Given the description of an element on the screen output the (x, y) to click on. 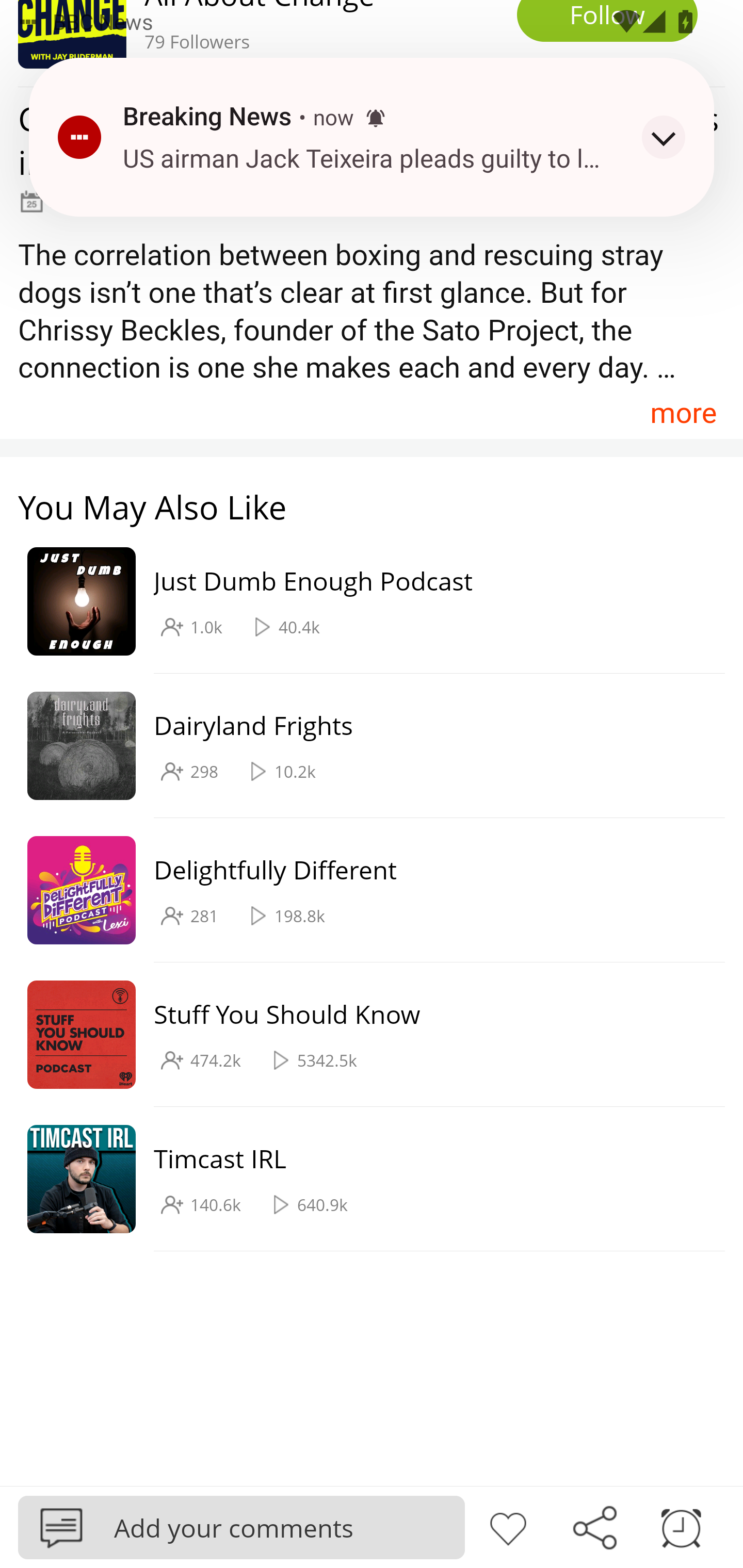
79 Followers (371, 43)
more (682, 412)
Just Dumb Enough Podcast 1.0k 40.4k (362, 601)
Dairyland Frights 298 10.2k (362, 746)
Delightfully Different 281 198.8k (362, 890)
Stuff You Should Know 474.2k 5342.5k (362, 1034)
Timcast IRL 140.6k 640.9k (362, 1179)
Like (508, 1526)
Share (594, 1526)
Sleep timer (681, 1526)
Podbean Add your comments (241, 1526)
